Given the description of an element on the screen output the (x, y) to click on. 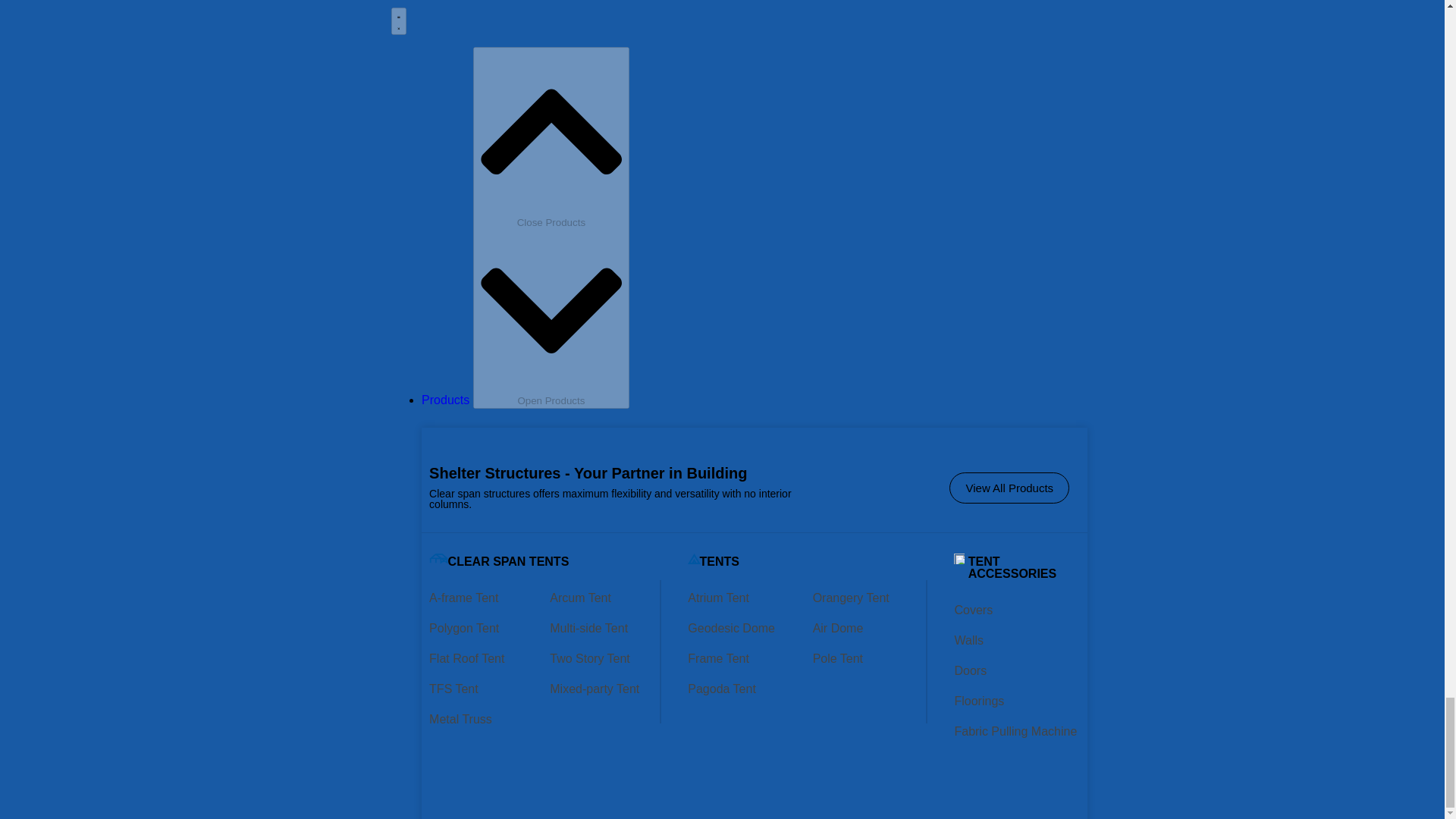
instagram (1165, 6)
facebook (1114, 6)
pinterest (960, 6)
tiktok (1063, 6)
twitter (1012, 6)
